Given the description of an element on the screen output the (x, y) to click on. 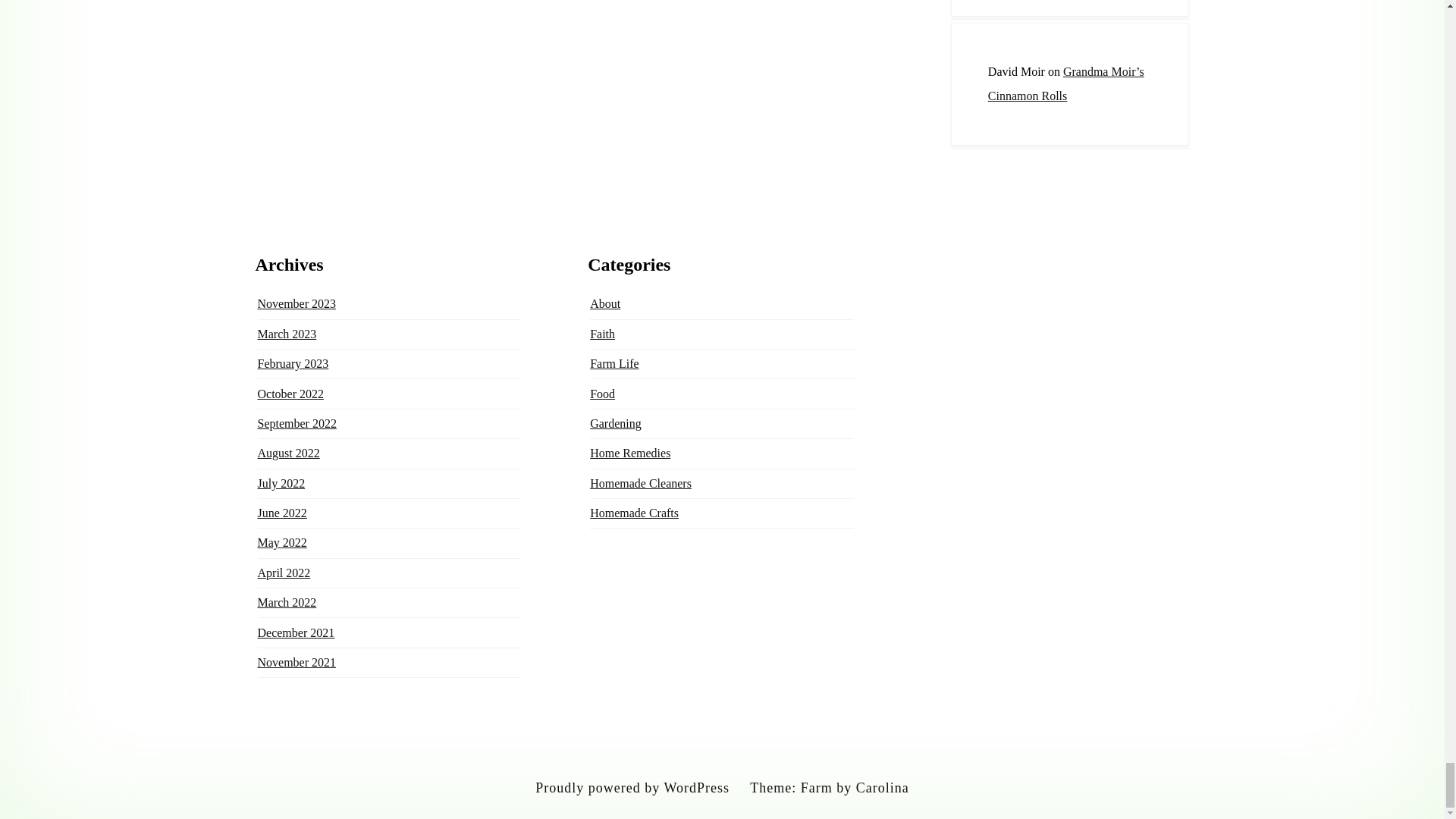
November 2023 (296, 303)
October 2022 (290, 393)
February 2023 (293, 363)
March 2023 (287, 333)
